Given the description of an element on the screen output the (x, y) to click on. 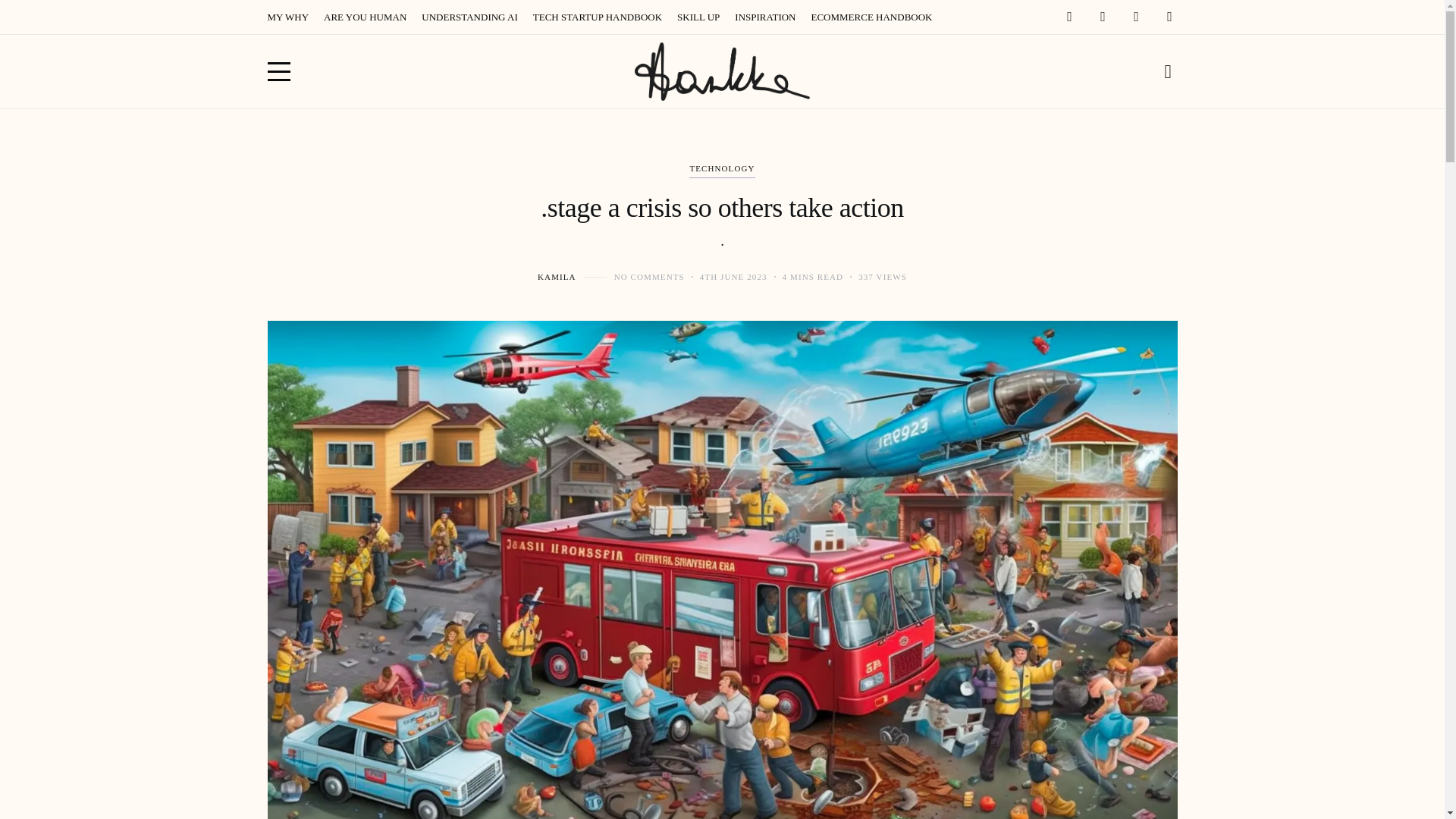
NO COMMENTS (649, 276)
UNDERSTANDING AI (468, 17)
LinkedIn (1169, 15)
Categories (721, 170)
ECOMMERCE HANDBOOK (871, 17)
MY WHY (287, 17)
Tech, business and everything In between (721, 71)
SKILL UP (697, 17)
ARE YOU HUMAN (364, 17)
Twitter (1135, 15)
